Given the description of an element on the screen output the (x, y) to click on. 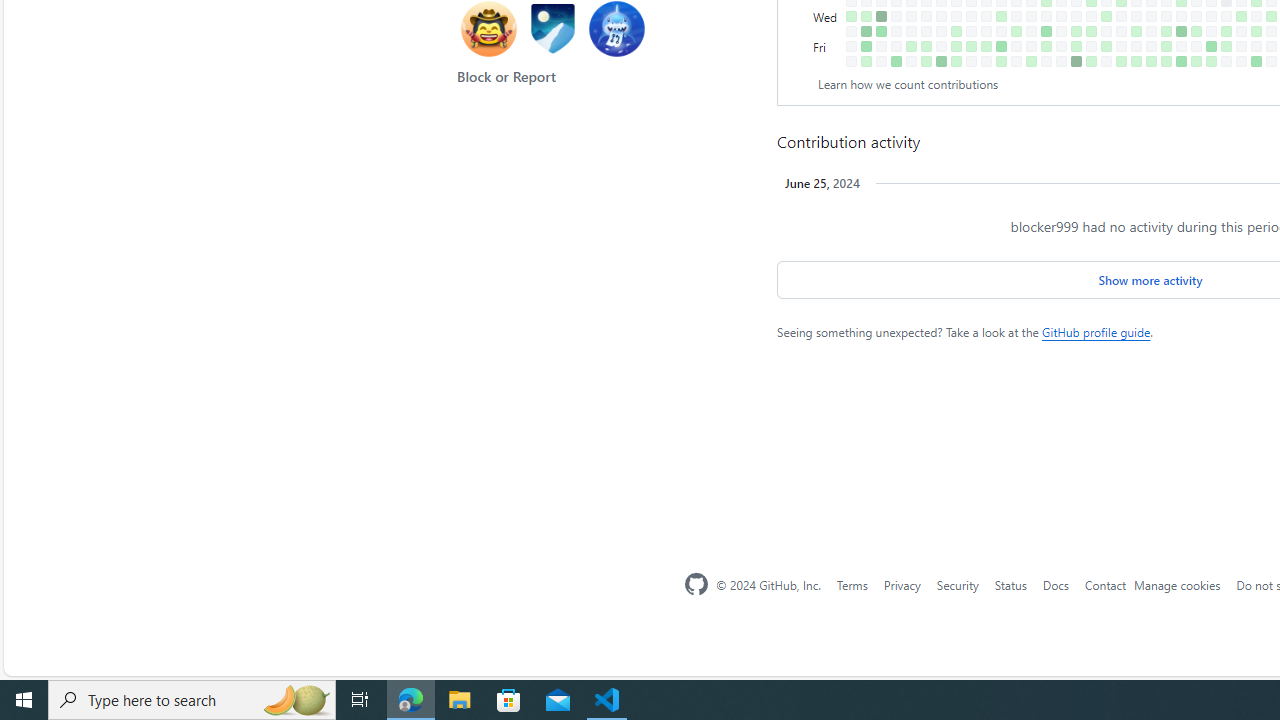
No contributions on February 29th. (971, 30)
13 contributions on January 17th. (881, 16)
8 contributions on February 17th. (941, 61)
3 contributions on February 10th. (926, 61)
2 contributions on April 18th. (1076, 30)
No contributions on March 9th. (986, 61)
No contributions on March 23rd. (1016, 61)
3 contributions on April 27th. (1090, 61)
No contributions on March 6th. (986, 16)
1 contribution on May 18th. (1136, 61)
No contributions on April 3rd. (1046, 16)
No contributions on June 5th. (1181, 16)
3 contributions on April 5th. (1046, 46)
3 contributions on June 27th. (1226, 30)
